Given the description of an element on the screen output the (x, y) to click on. 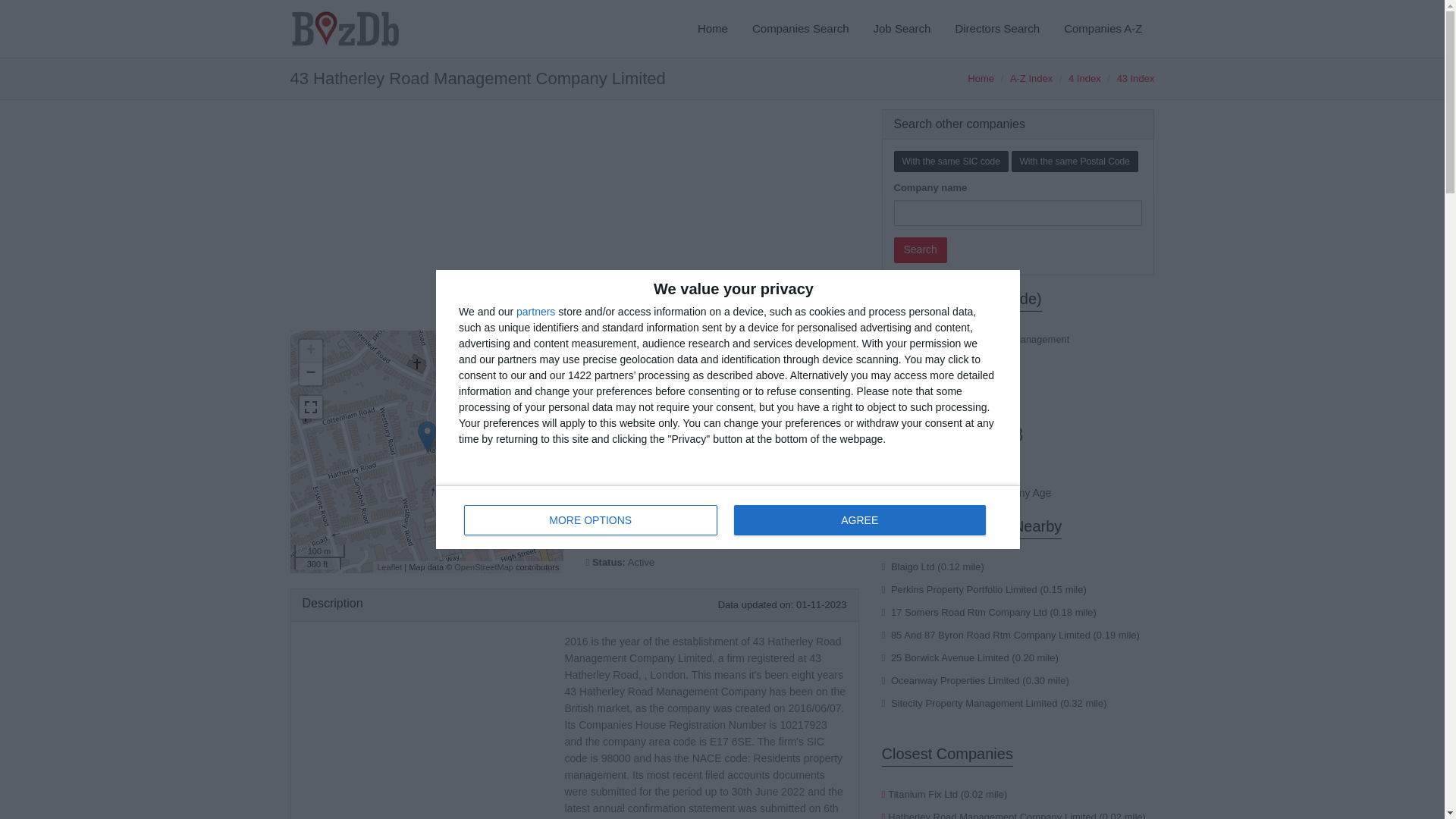
Home (981, 78)
4 Index (1084, 78)
AGREE (859, 520)
43 Index (1135, 78)
A-Z Index (1031, 78)
Leaflet (389, 566)
Blaigo Ltd (727, 516)
A JS library for interactive maps (912, 566)
View Fullscreen (389, 566)
25 Borwick Avenue Limited (309, 406)
Home (950, 657)
Perkins Property Portfolio Limited (712, 28)
Job Search (963, 589)
